Given the description of an element on the screen output the (x, y) to click on. 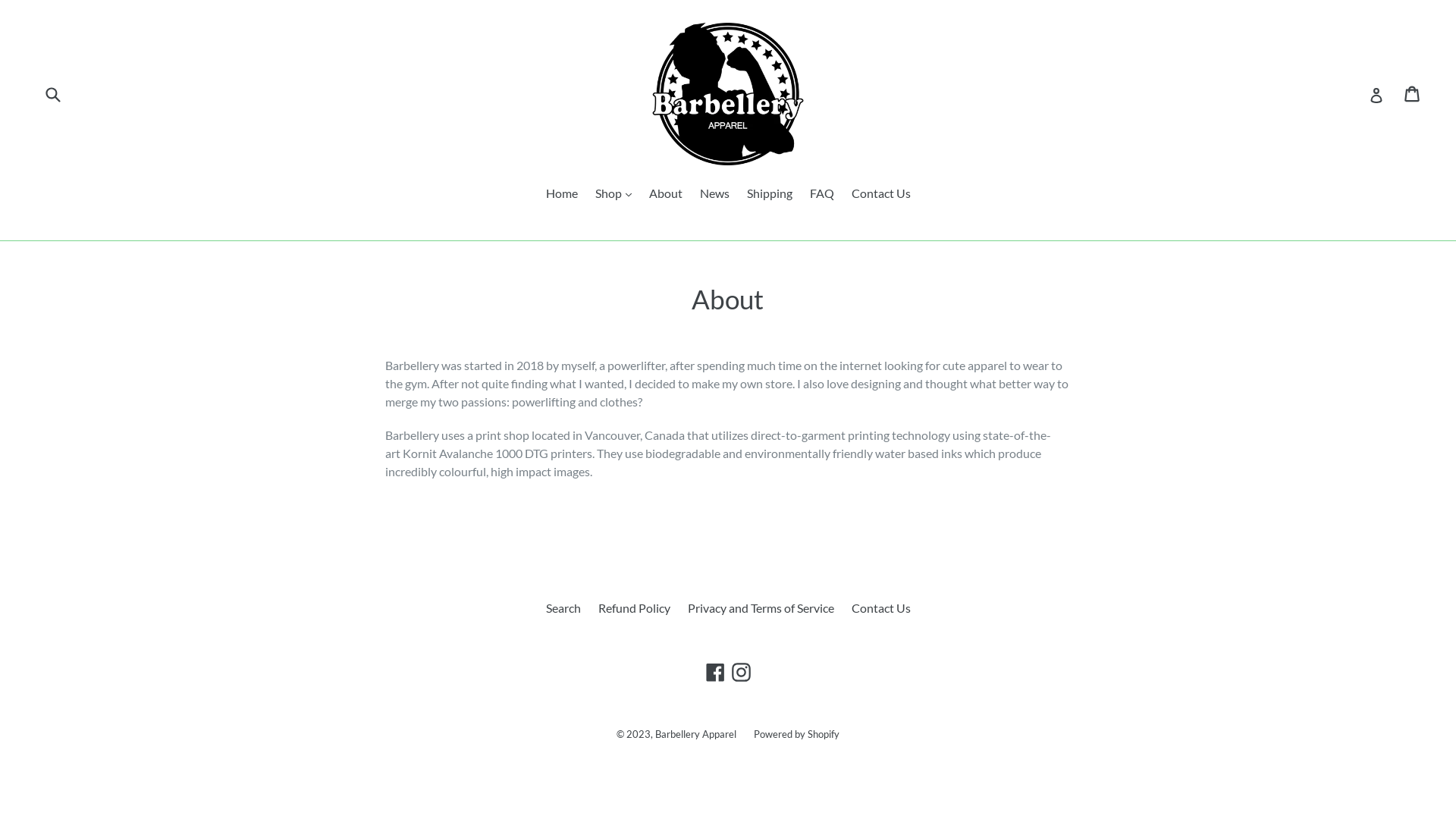
Contact Us Element type: text (880, 194)
Privacy and Terms of Service Element type: text (760, 607)
Home Element type: text (561, 194)
News Element type: text (713, 194)
Cart
Cart Element type: text (1412, 93)
Contact Us Element type: text (880, 607)
Refund Policy Element type: text (633, 607)
Log in Element type: text (1375, 93)
Instagram Element type: text (741, 671)
Search Element type: text (563, 607)
Facebook Element type: text (715, 671)
Powered by Shopify Element type: text (796, 733)
FAQ Element type: text (821, 194)
Shipping Element type: text (768, 194)
Submit Element type: text (51, 93)
About Element type: text (665, 194)
Barbellery Apparel Element type: text (695, 733)
